Given the description of an element on the screen output the (x, y) to click on. 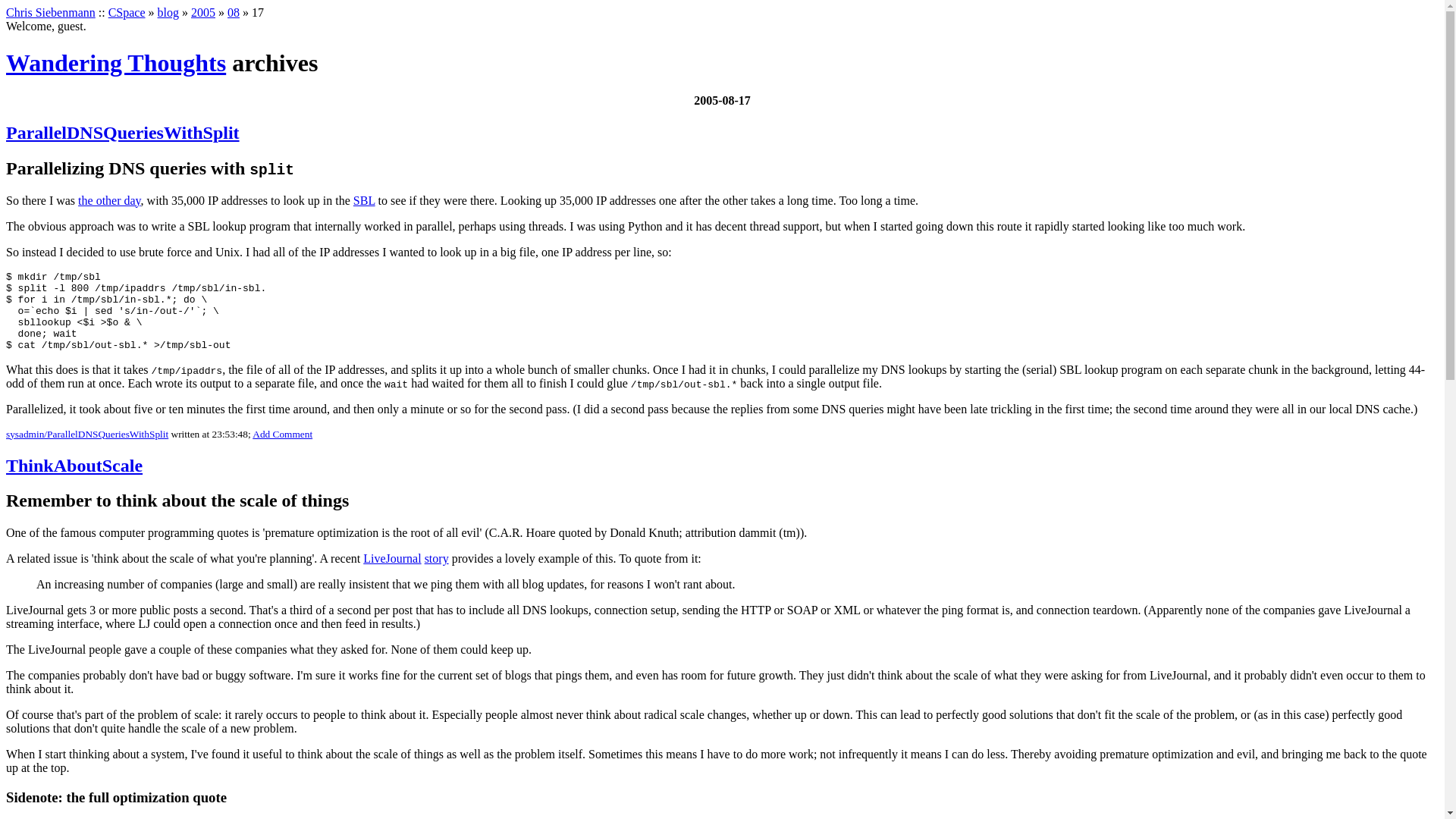
SBL (364, 200)
story (436, 558)
the other day (108, 200)
08 (233, 11)
Wandering Thoughts (115, 62)
ParallelDNSQueriesWithSplit (122, 132)
CSpace (126, 11)
blog (168, 11)
ThinkAboutScale (73, 465)
Add Comment (282, 433)
